Given the description of an element on the screen output the (x, y) to click on. 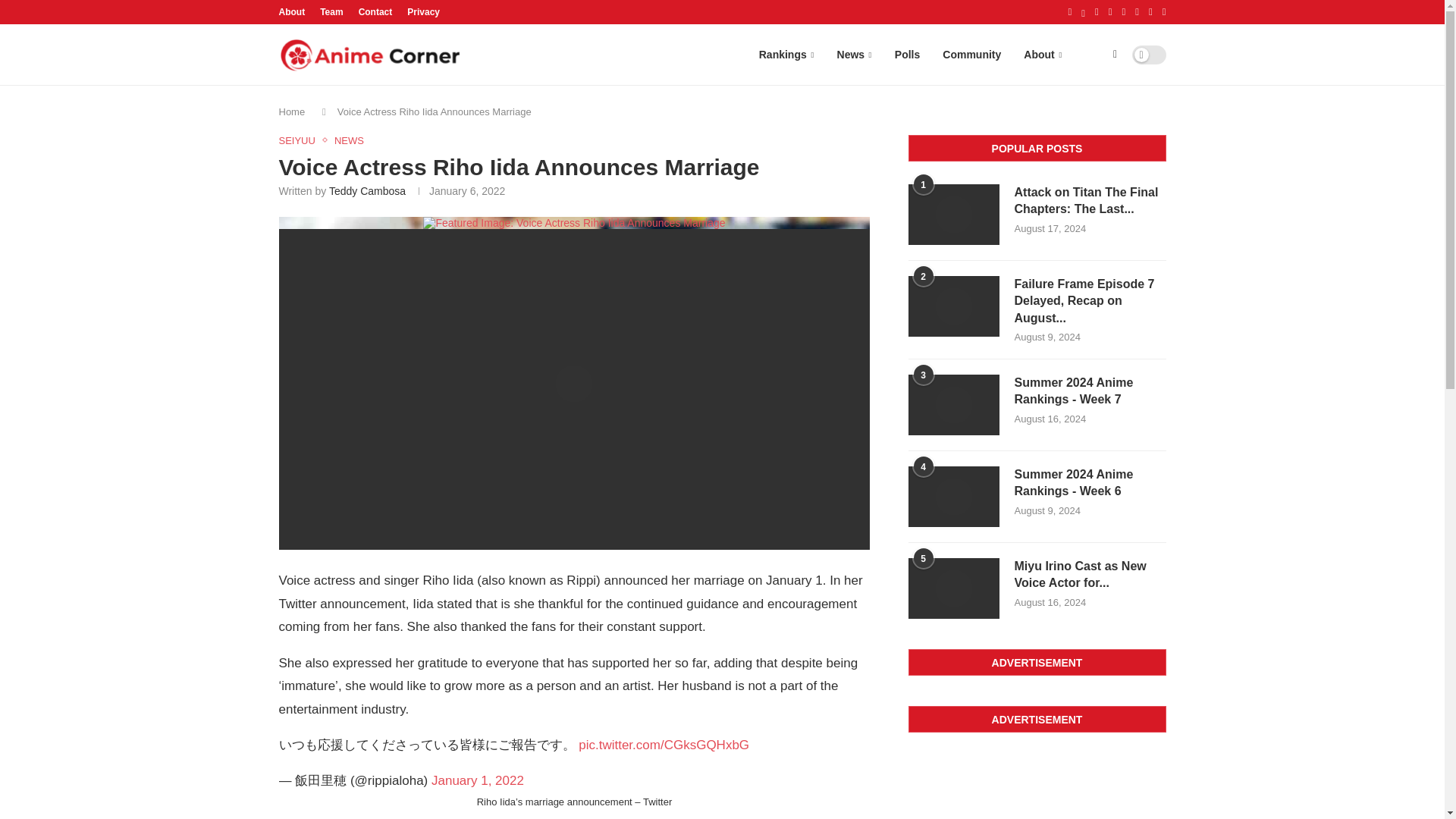
Contact (375, 12)
About (292, 12)
Summer 2024 Anime Rankings - Week 7 (953, 404)
Summer 2024 Anime Rankings - Week 7 (1090, 391)
Community (971, 54)
Rankings (786, 54)
Summer 2024 Anime Rankings - Week 6 (1090, 483)
